Given the description of an element on the screen output the (x, y) to click on. 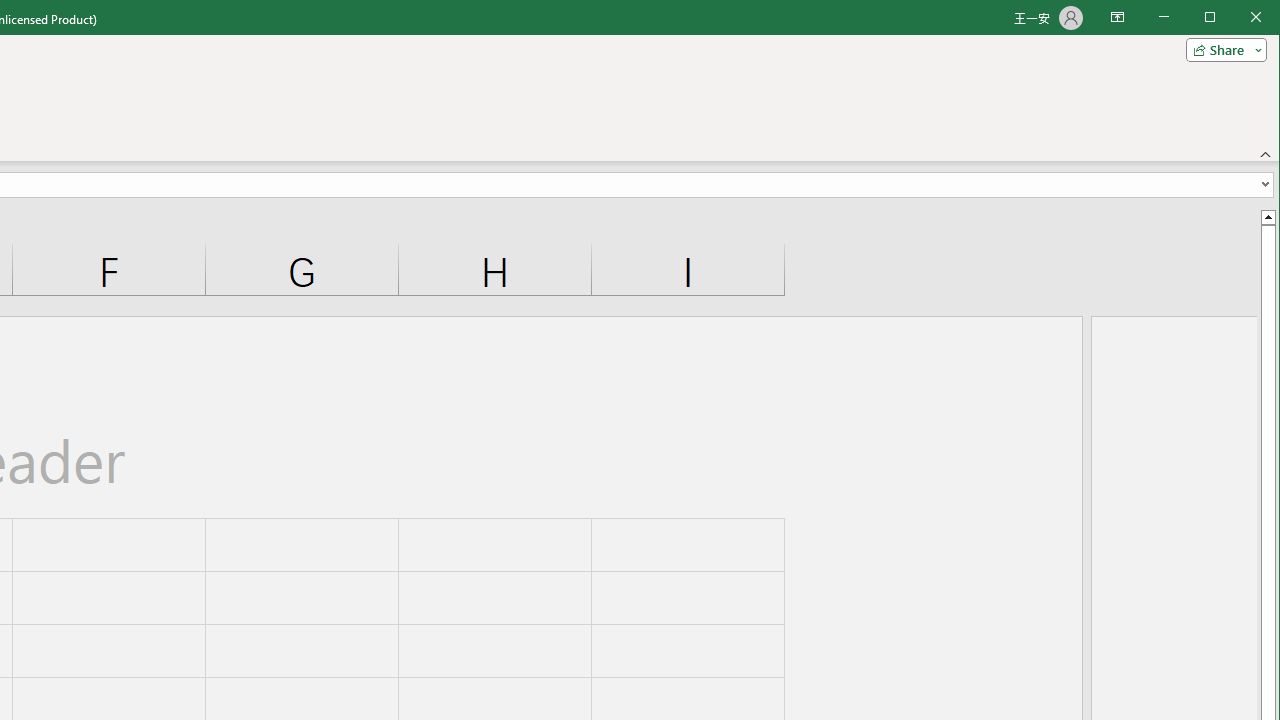
Share (1222, 49)
Line up (1268, 216)
Minimize (1216, 18)
Maximize (1238, 18)
Collapse the Ribbon (1266, 154)
Ribbon Display Options (1117, 17)
